Given the description of an element on the screen output the (x, y) to click on. 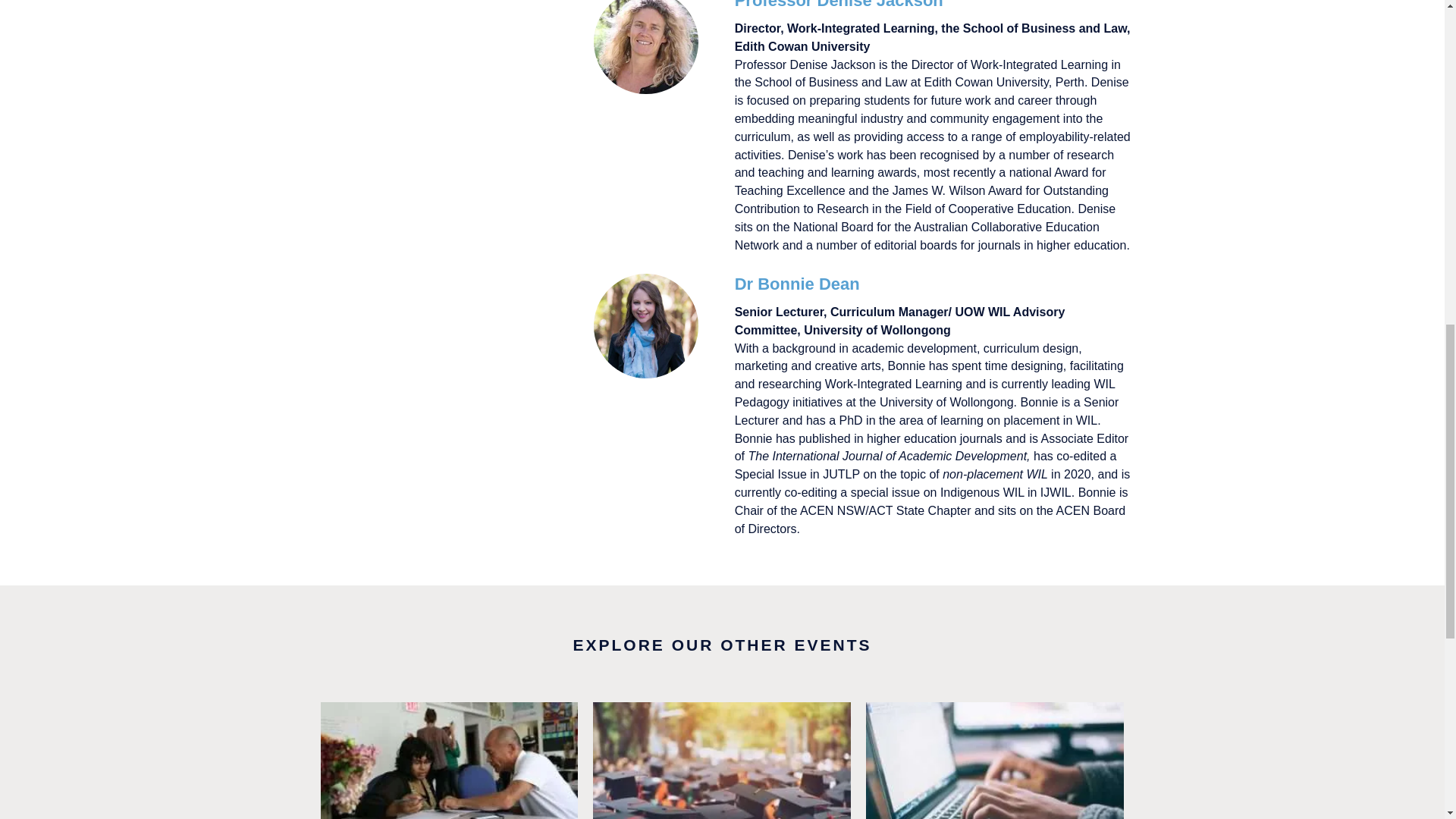
ACEN QLD Chapter Led Conversation (995, 760)
WIL in the Graduate Outcomes Survey Webinar (721, 760)
Bonnie-Dean-sq (646, 325)
